Given the description of an element on the screen output the (x, y) to click on. 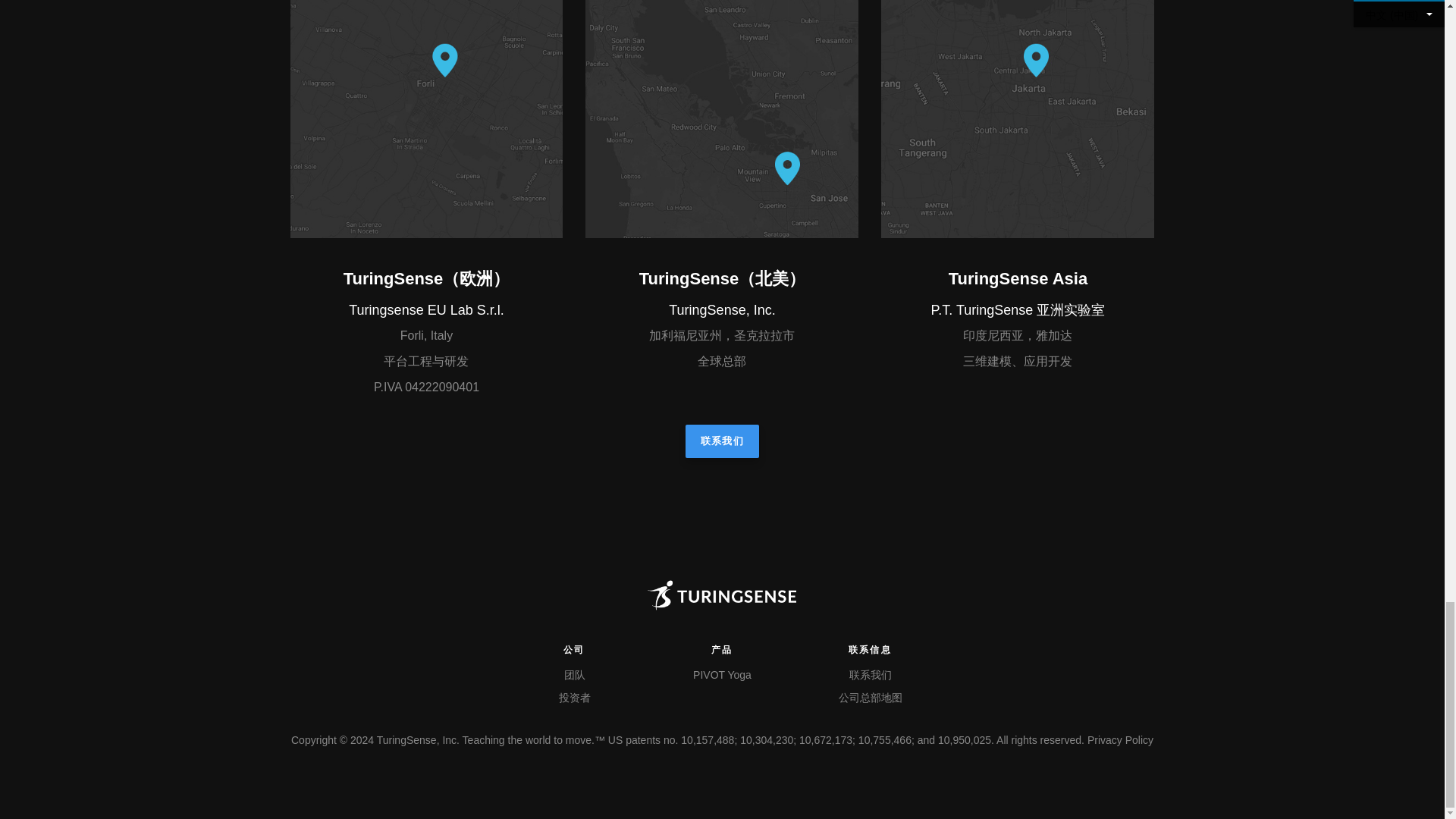
Privacy Policy (1120, 739)
PIVOT Yoga (722, 674)
Turingsense EU Lab S.r.l. (426, 309)
